Given the description of an element on the screen output the (x, y) to click on. 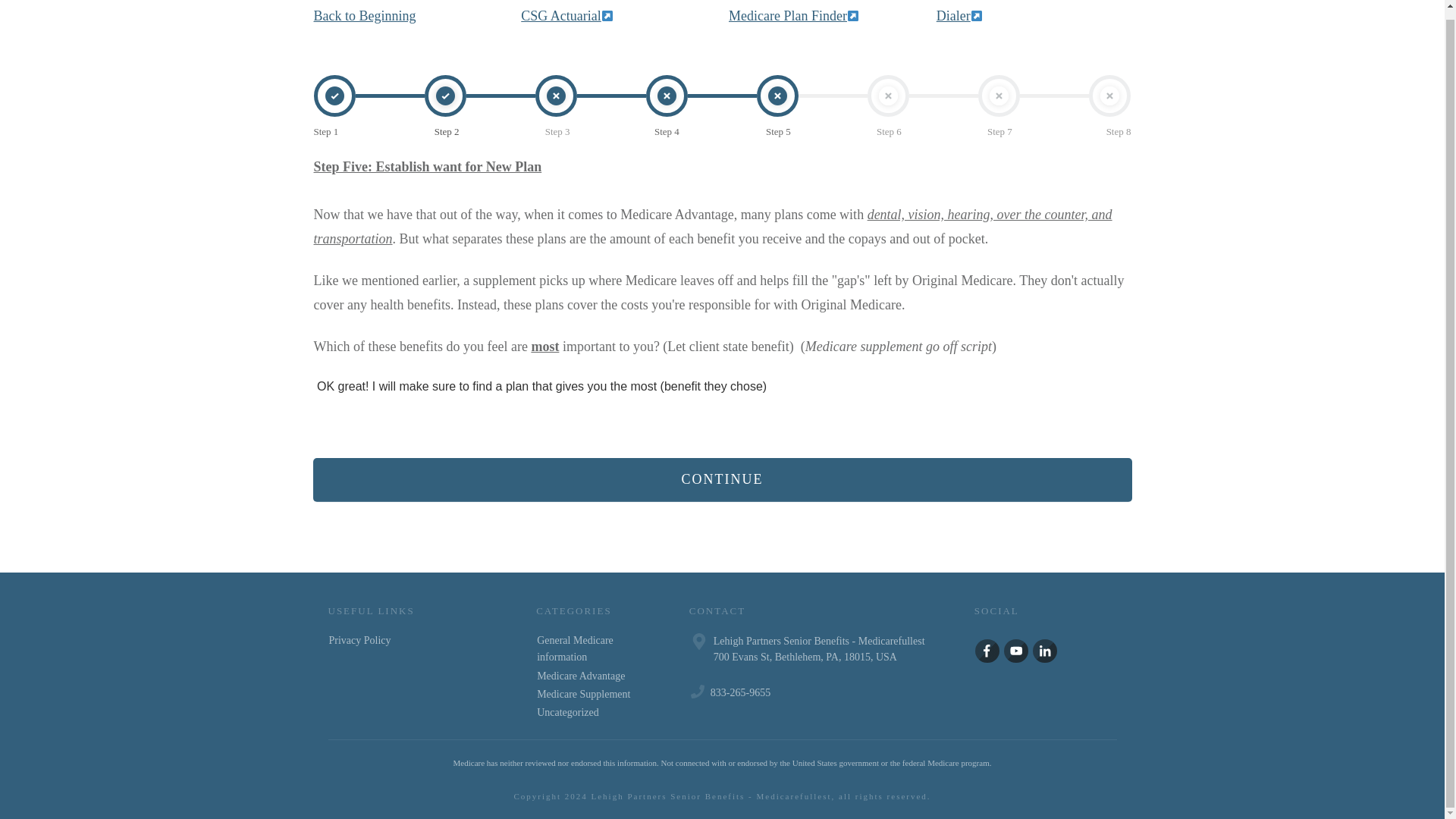
Uncategorized (567, 712)
CSG Actuarial (561, 15)
Privacy Policy (360, 640)
Medicare Plan Finder (794, 15)
Dialer (959, 15)
Back to Beginning (365, 15)
Medicare Supplement (583, 694)
CONTINUE (722, 479)
General Medicare information (593, 649)
Medicare Advantage (580, 676)
